Given the description of an element on the screen output the (x, y) to click on. 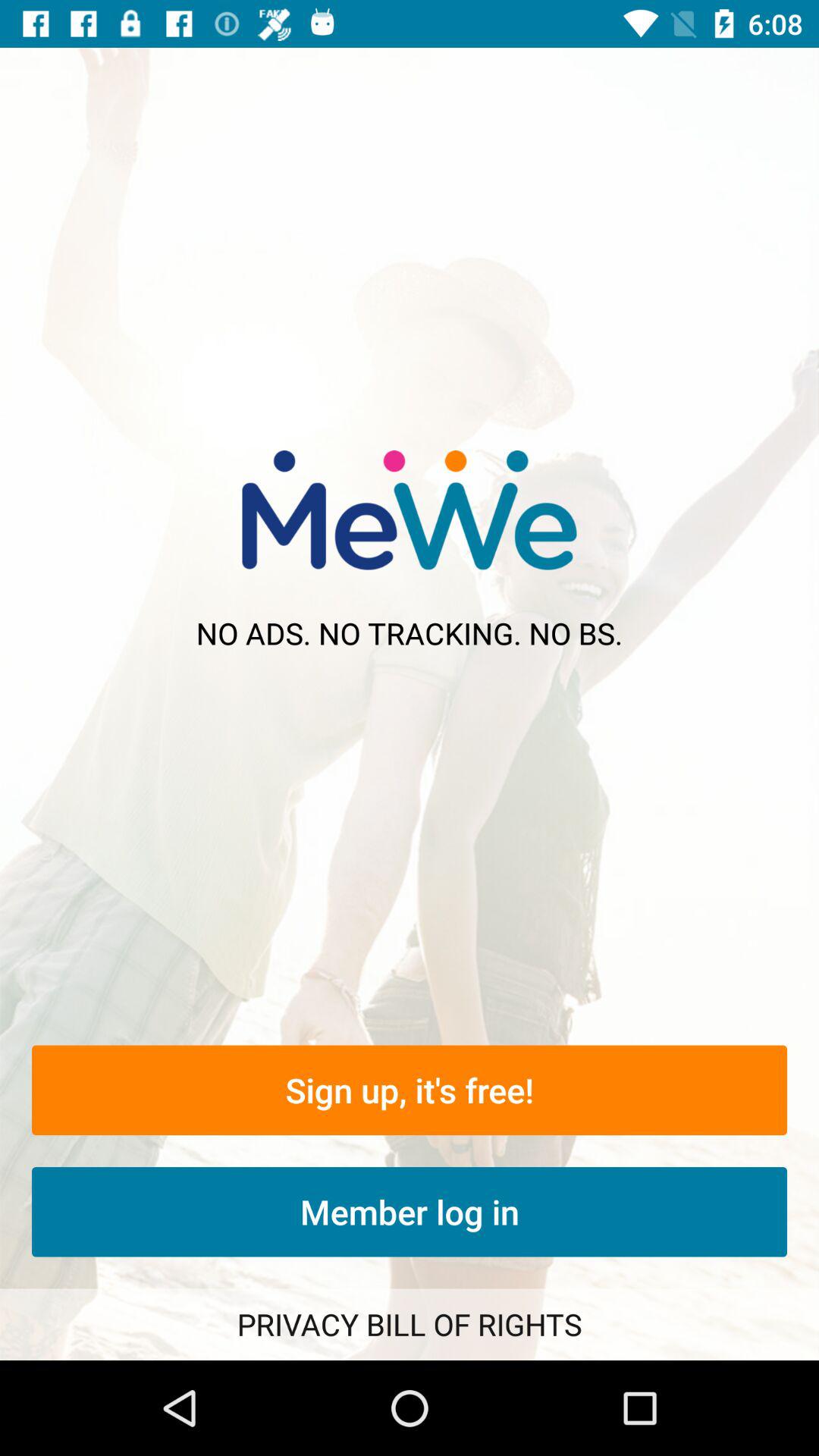
turn on the item below member log in (409, 1324)
